Given the description of an element on the screen output the (x, y) to click on. 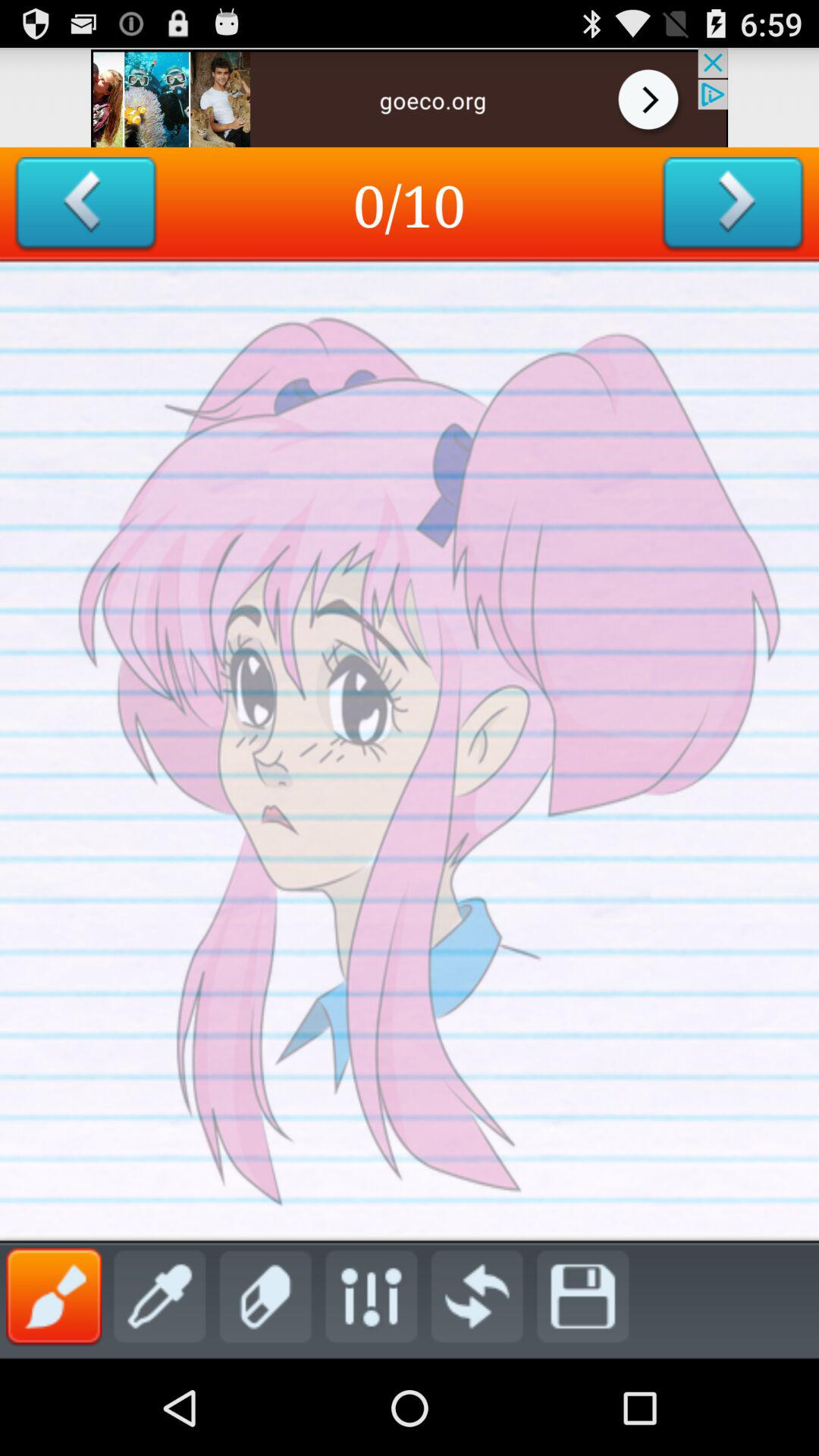
this icon is used to go previous picture (85, 204)
